Given the description of an element on the screen output the (x, y) to click on. 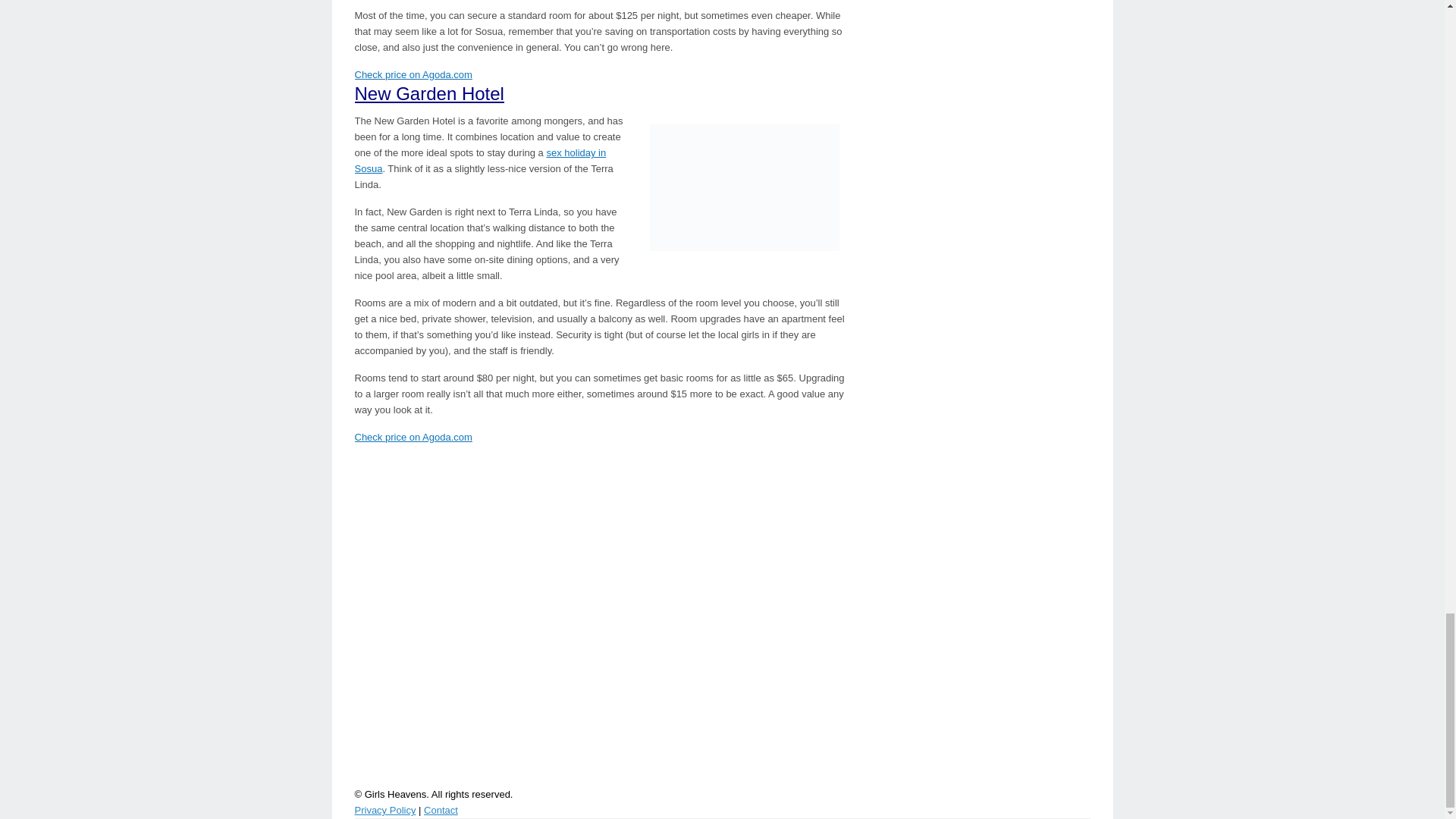
Girl Friendly Hotel in Sosua (744, 187)
sex holiday in Sosua (481, 160)
Check price on Agoda.com (413, 74)
New Garden Hotel (429, 93)
Check price on Agoda.com (413, 437)
